Given the description of an element on the screen output the (x, y) to click on. 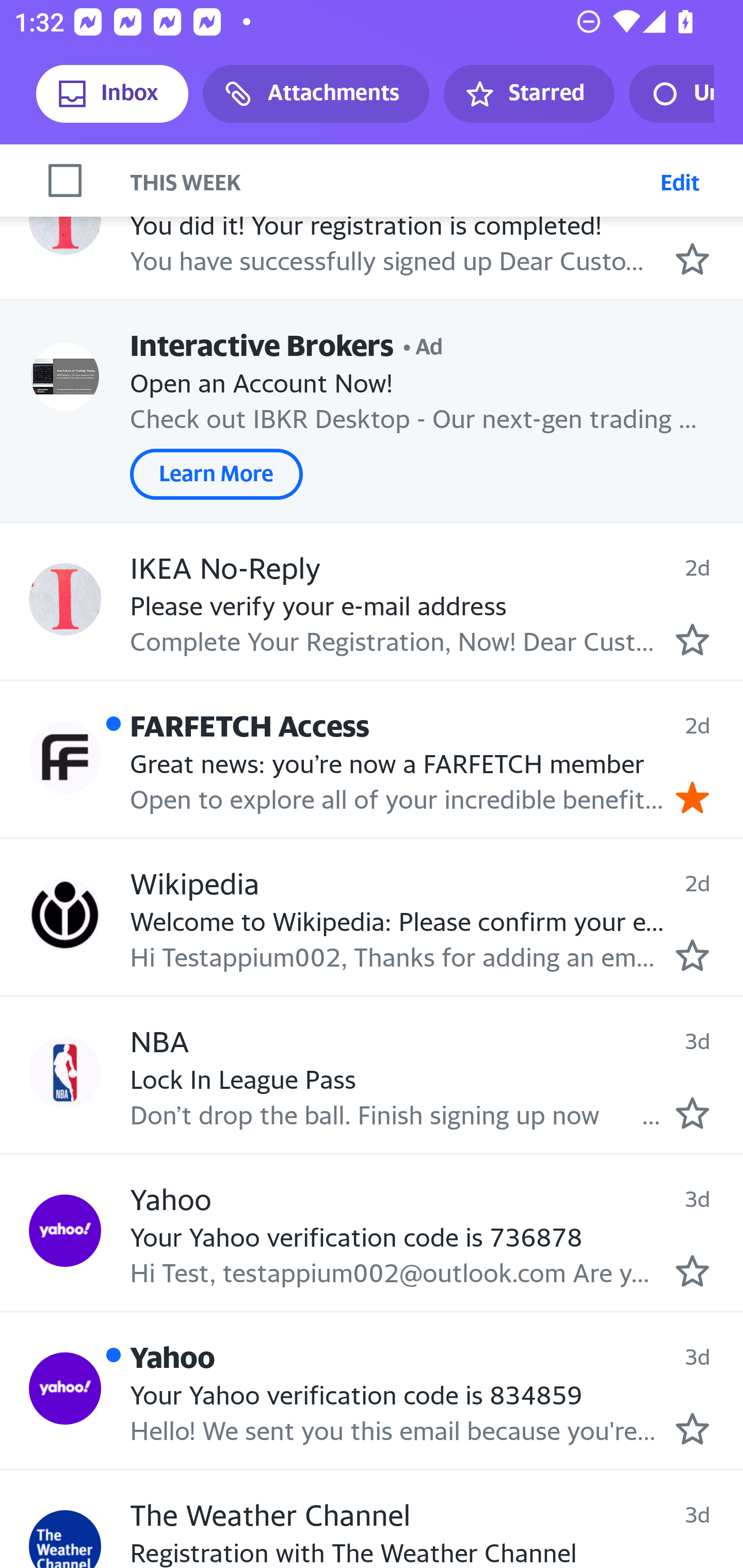
Attachments (315, 93)
Starred (528, 93)
Mark as starred. (692, 259)
Profile
IKEA No-Reply (64, 598)
Mark as starred. (692, 638)
Profile
FARFETCH Access (64, 757)
Remove star. (692, 797)
Profile
Wikipedia (64, 915)
Mark as starred. (692, 955)
Profile
NBA (64, 1072)
Mark as starred. (692, 1112)
Profile
Yahoo (64, 1230)
Mark as starred. (692, 1270)
Profile
Yahoo (64, 1388)
Mark as starred. (692, 1429)
Profile
The Weather Channel (64, 1538)
